Given the description of an element on the screen output the (x, y) to click on. 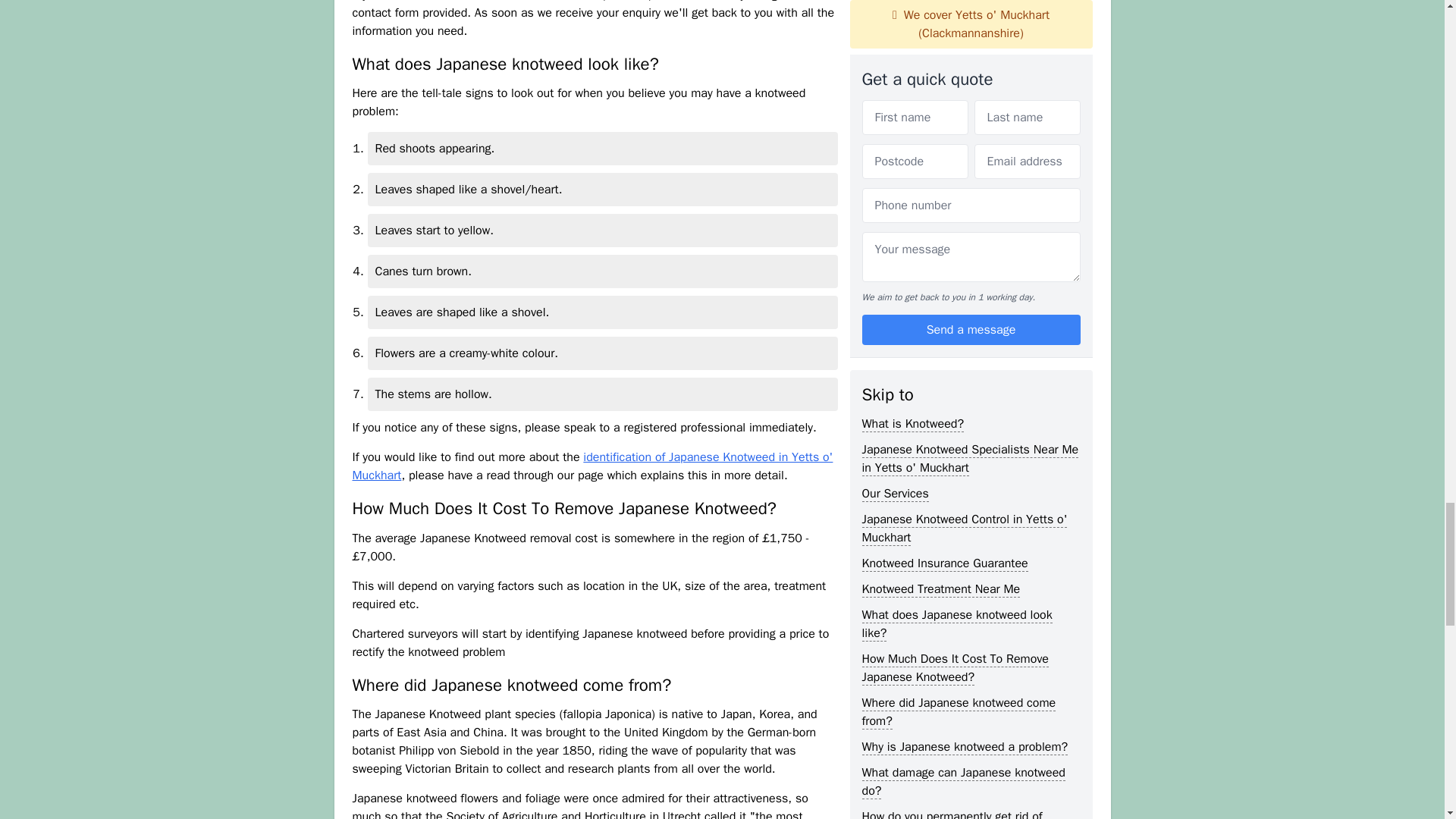
identification of Japanese Knotweed in Yetts o' Muckhart (592, 466)
